Given the description of an element on the screen output the (x, y) to click on. 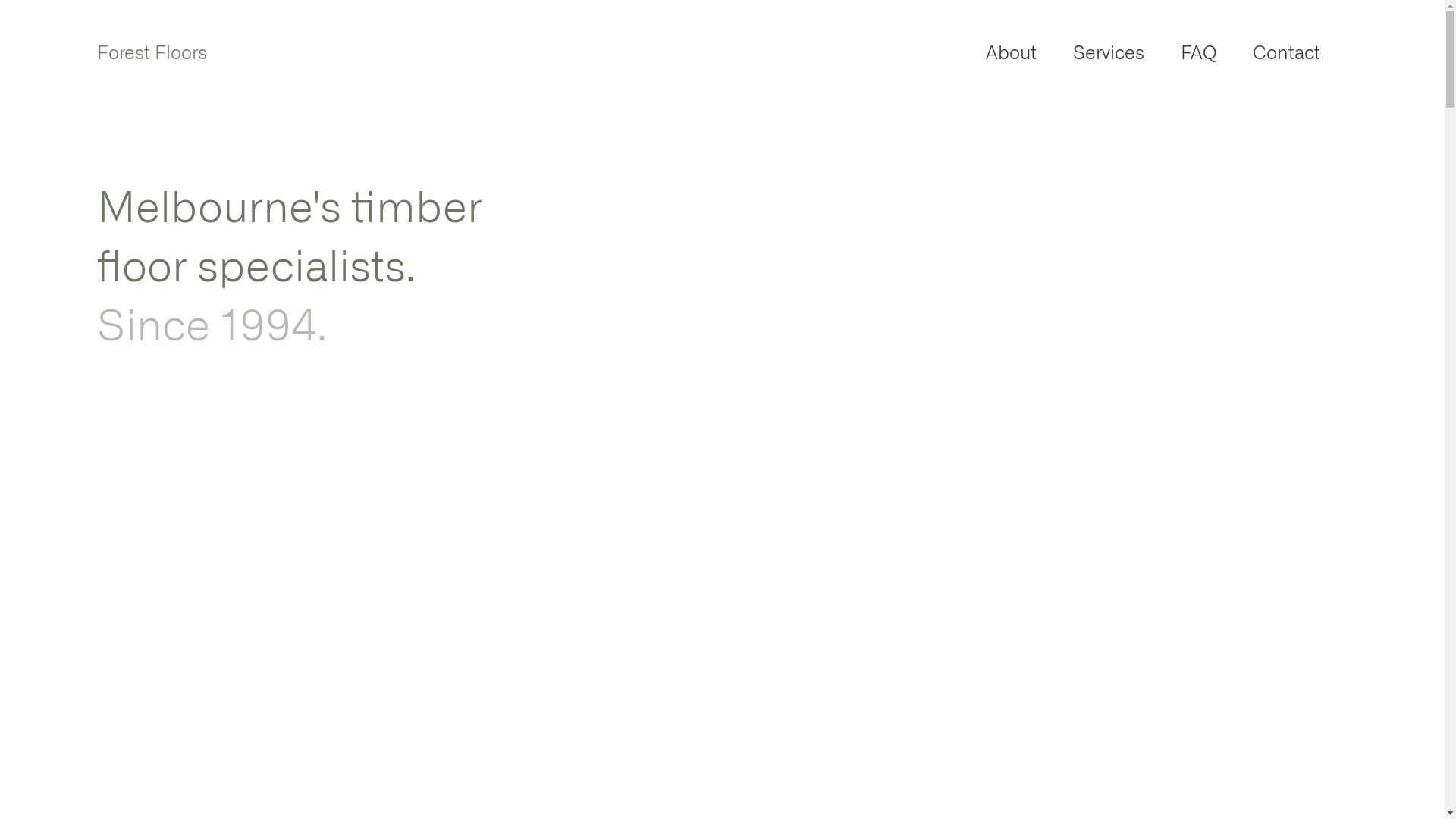
Services Element type: text (1108, 53)
FAQ Element type: text (1198, 53)
Forest Floors Element type: text (152, 52)
About Element type: text (1010, 53)
Contact Element type: text (1286, 53)
